Given the description of an element on the screen output the (x, y) to click on. 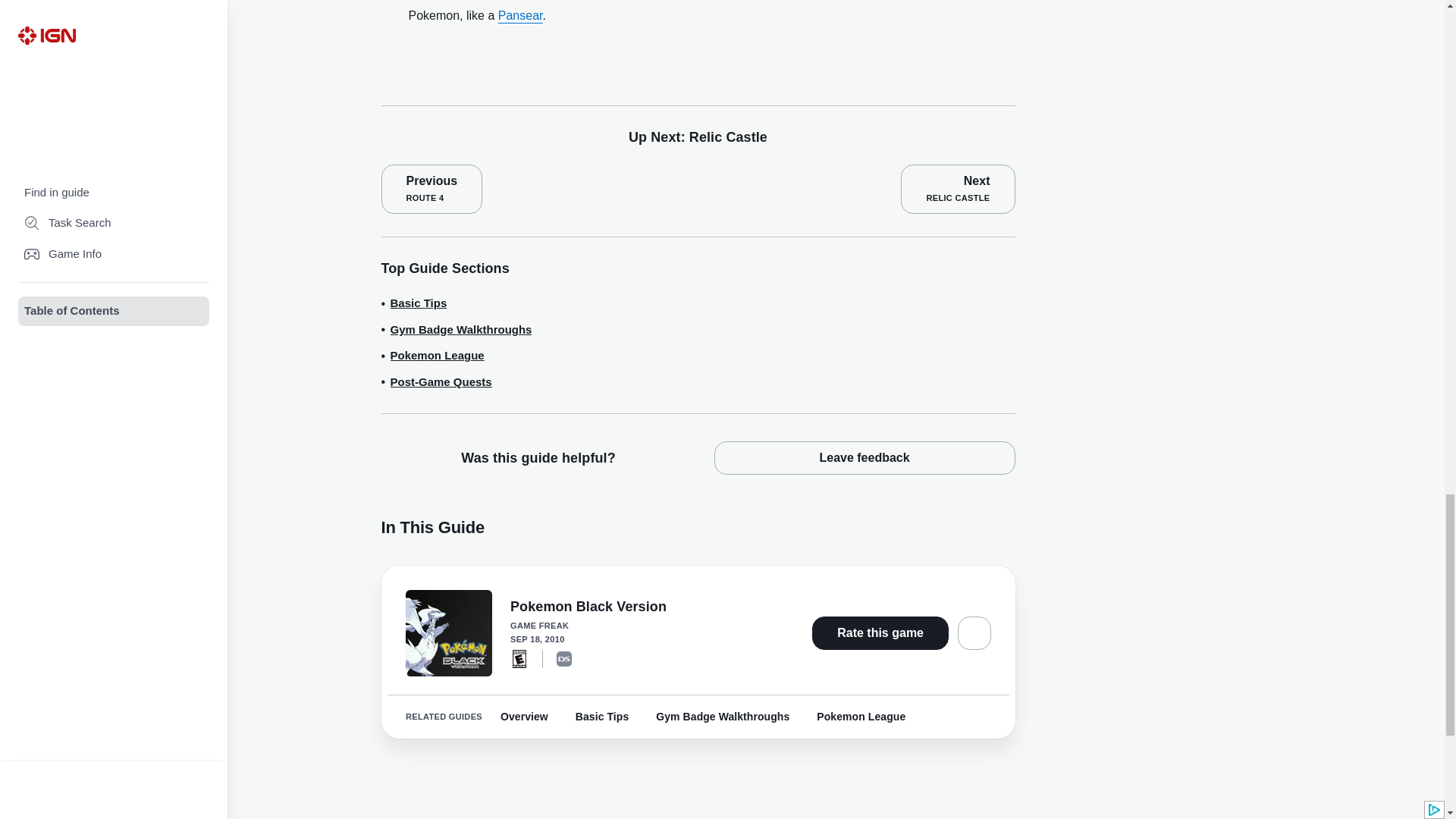
Nintendo DS (564, 657)
ESRB: Everyone (518, 658)
